Given the description of an element on the screen output the (x, y) to click on. 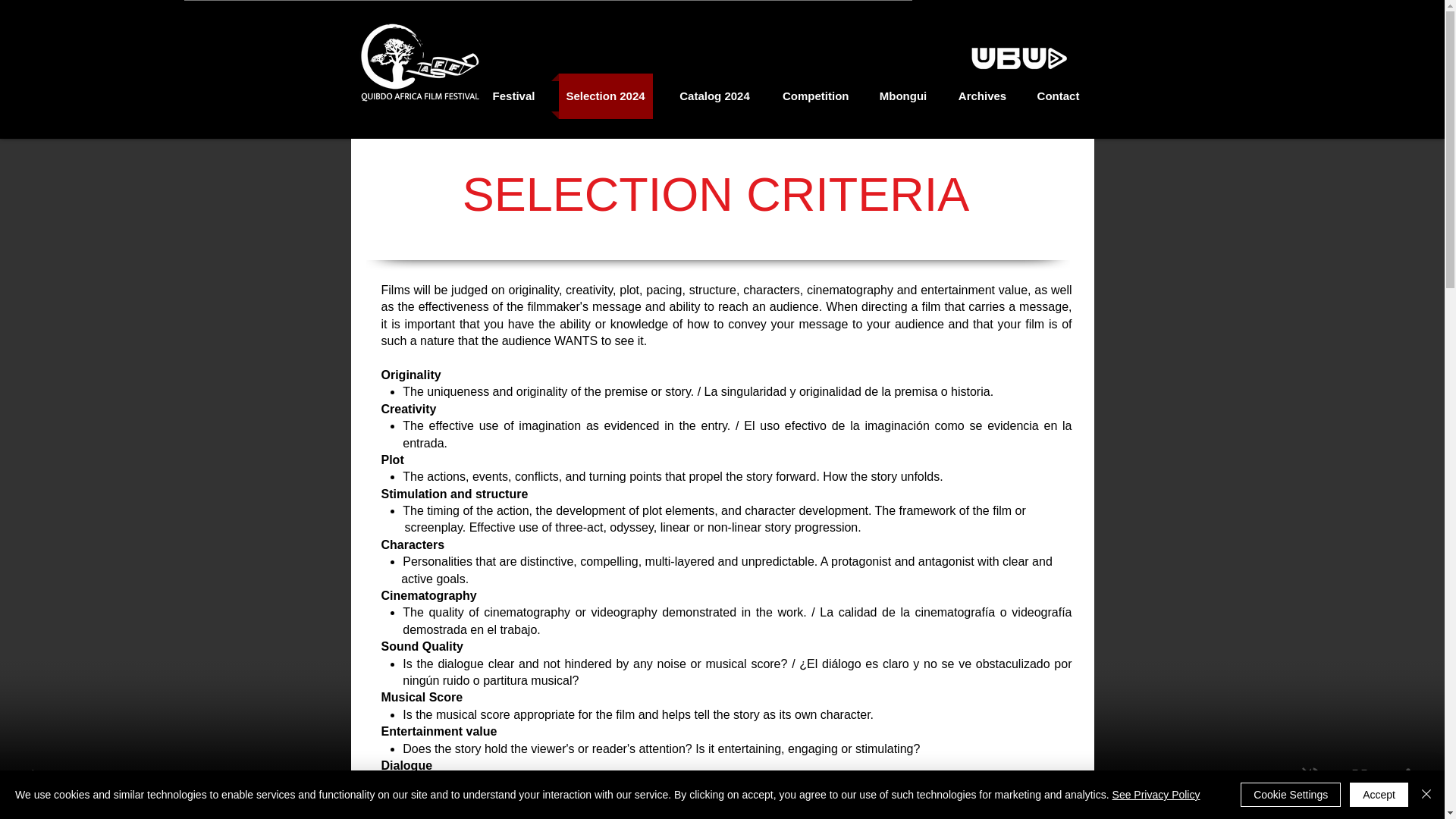
Mbongui (903, 95)
Selection 2024 (604, 95)
Archives (982, 95)
Competition (814, 95)
Catalog 2024 (714, 95)
Festival (513, 95)
